Given the description of an element on the screen output the (x, y) to click on. 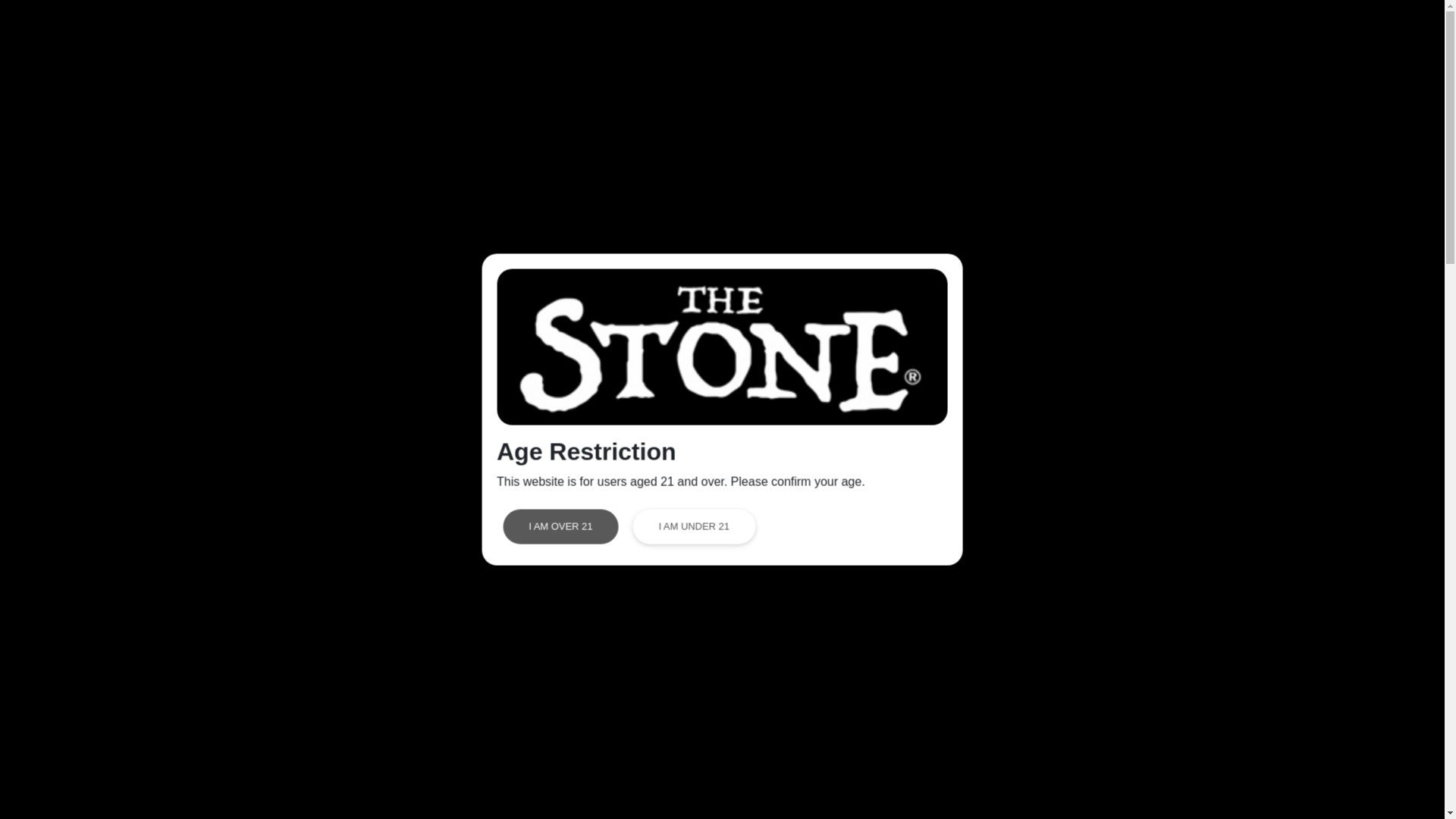
Home (764, 33)
Order Now (849, 33)
I AM OVER 21 (560, 525)
I AM UNDER 21 (693, 525)
Blog (1312, 33)
About Us (941, 33)
Store Info (1034, 33)
Brands (1244, 33)
Contact (1382, 33)
Latest Coupons (1146, 33)
